Given the description of an element on the screen output the (x, y) to click on. 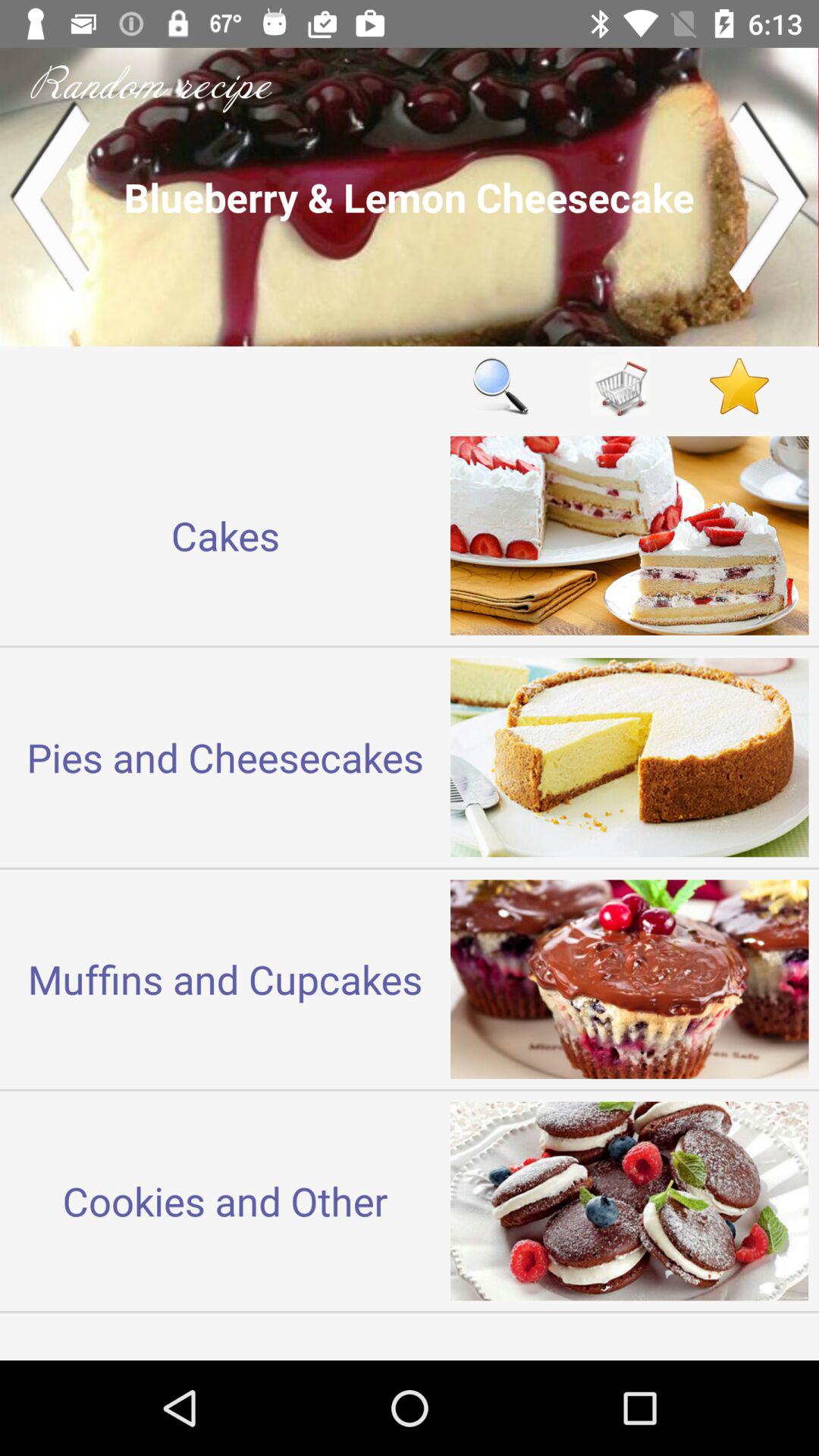
turn off the item above pies and cheesecakes (225, 534)
